Given the description of an element on the screen output the (x, y) to click on. 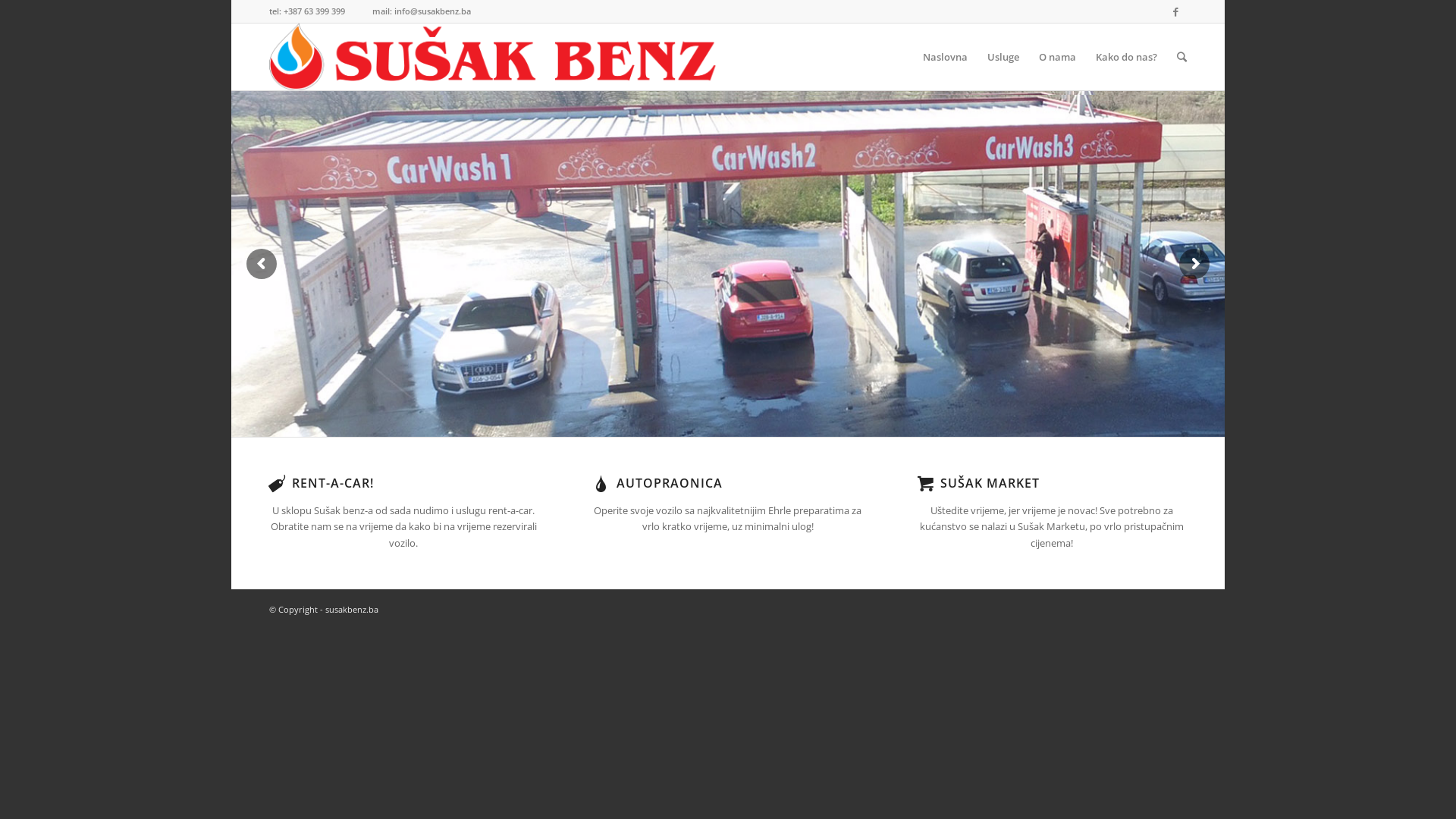
Kako do nas? Element type: text (1126, 56)
Usluge Element type: text (1003, 56)
Facebook Element type: hover (1175, 11)
O nama Element type: text (1057, 56)
Naslovna Element type: text (945, 56)
